Given the description of an element on the screen output the (x, y) to click on. 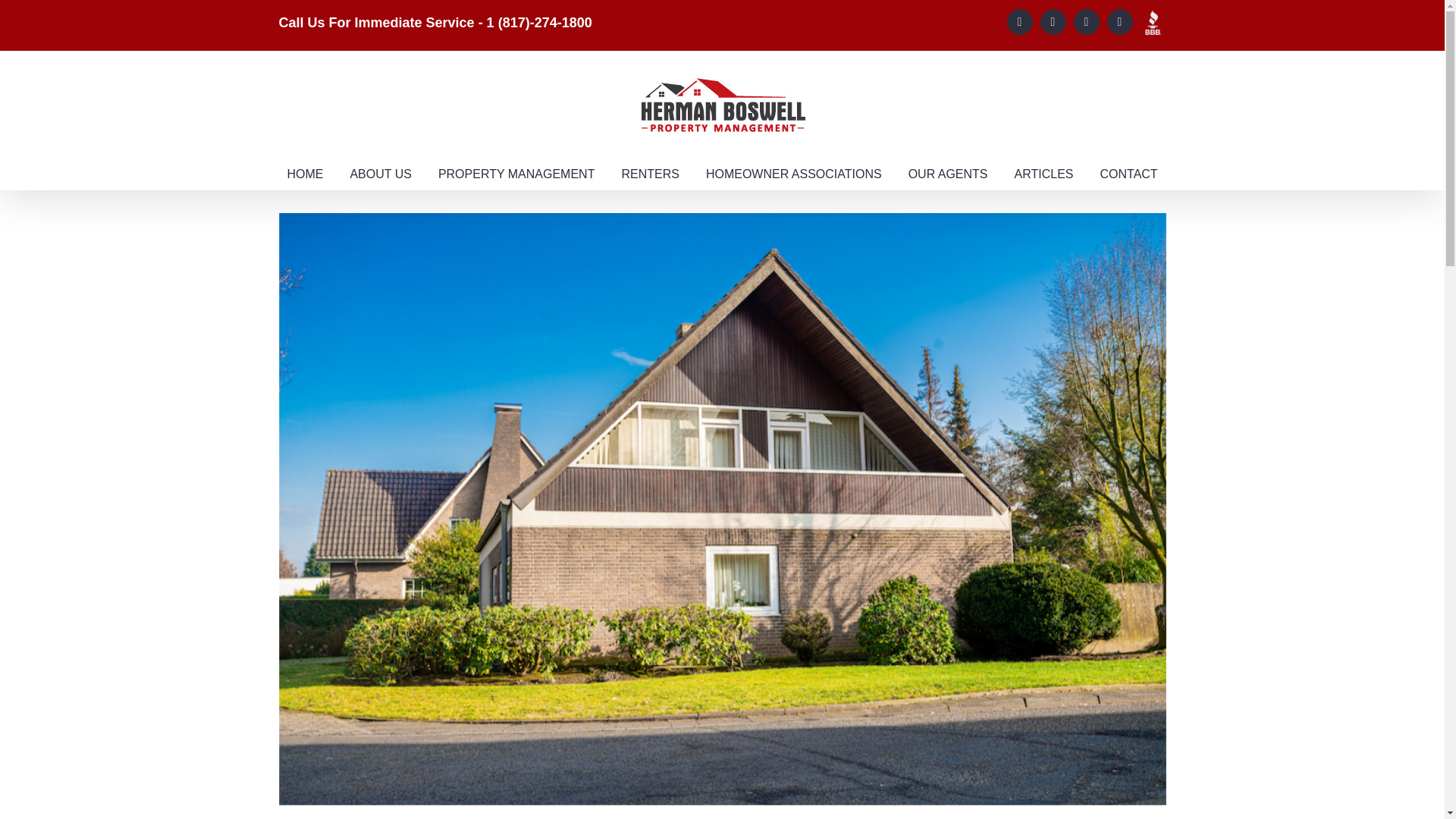
Facebook (1019, 22)
ABOUT US (380, 173)
ARTICLES (1044, 173)
Pinterest (1119, 22)
PROPERTY MANAGEMENT (516, 173)
Twitter (1053, 22)
Better Business Bureau (1153, 22)
RENTERS (649, 173)
CONTACT (1128, 173)
HOMEOWNER ASSOCIATIONS (794, 173)
OUR AGENTS (948, 173)
HOME (304, 173)
